Given the description of an element on the screen output the (x, y) to click on. 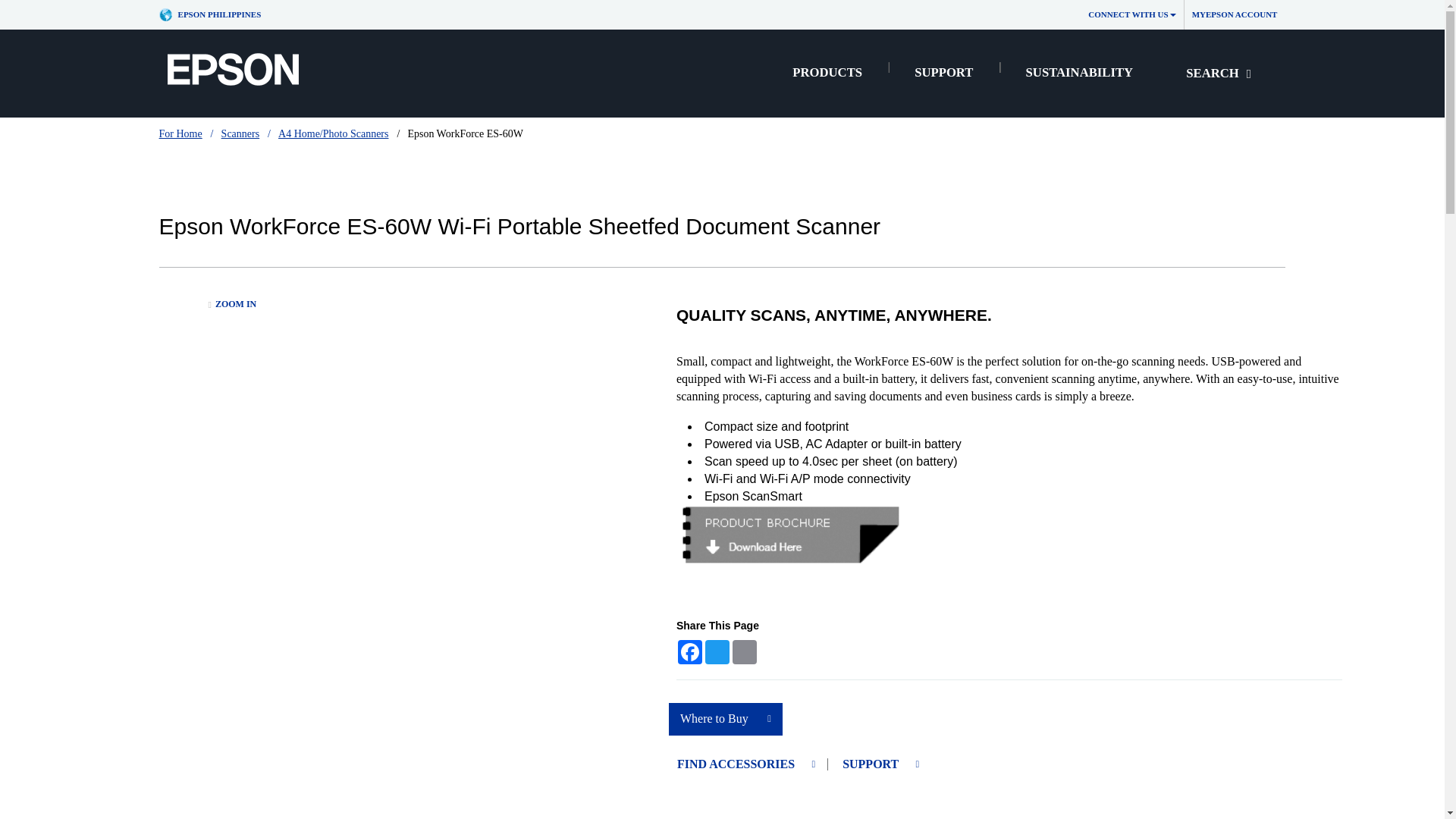
MYEPSON ACCOUNT (1235, 14)
CONNECT WITH US (1131, 14)
Epson Southeast Asia (213, 14)
SUPPORT (943, 73)
CONNECT WITH US (1131, 14)
PRODUCTS (827, 73)
PRODUCTS (827, 73)
MyEpson Account (1235, 14)
EPSON PHILIPPINES (213, 14)
